Given the description of an element on the screen output the (x, y) to click on. 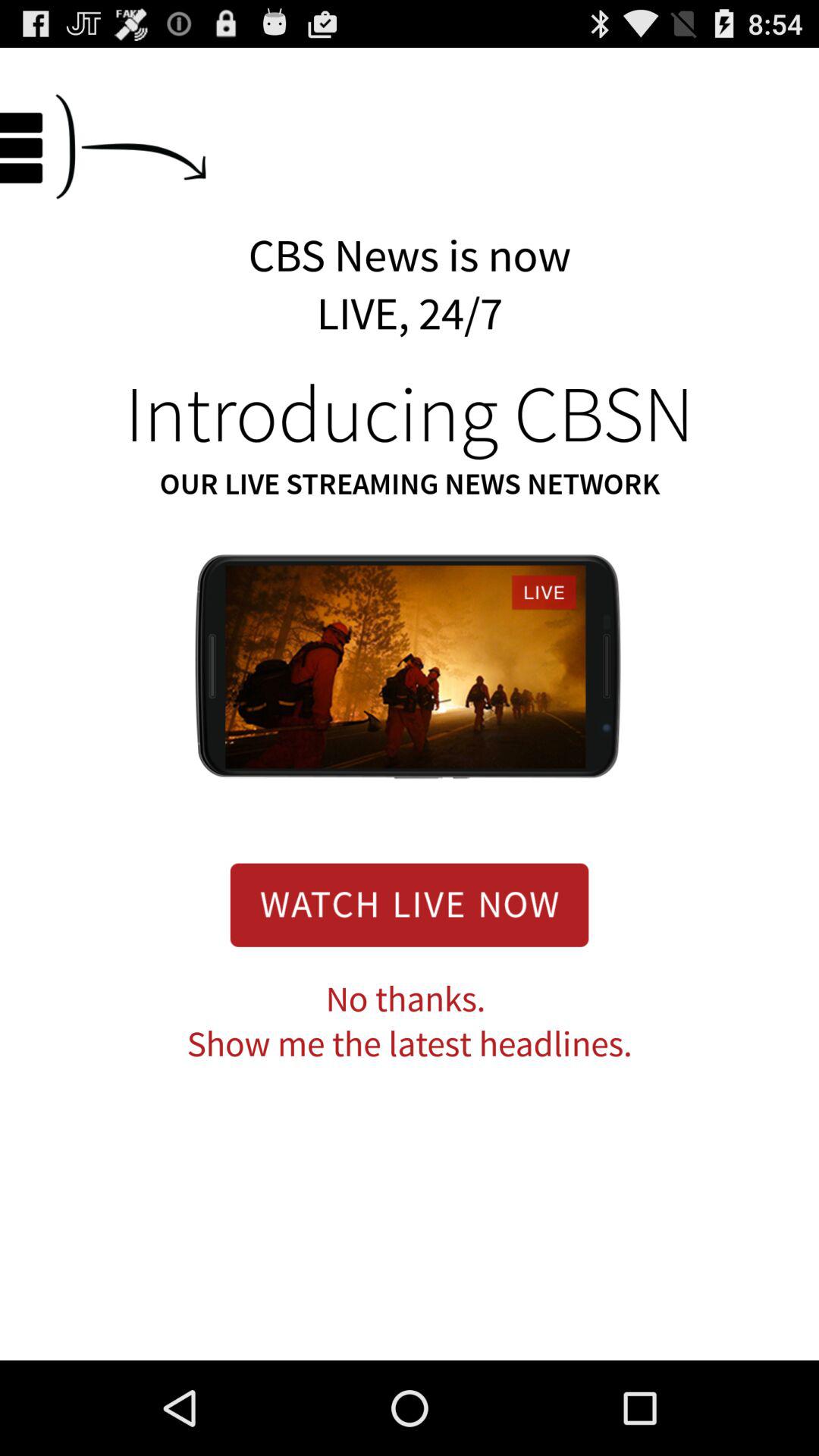
swipe to the no thanks show icon (409, 1022)
